Given the description of an element on the screen output the (x, y) to click on. 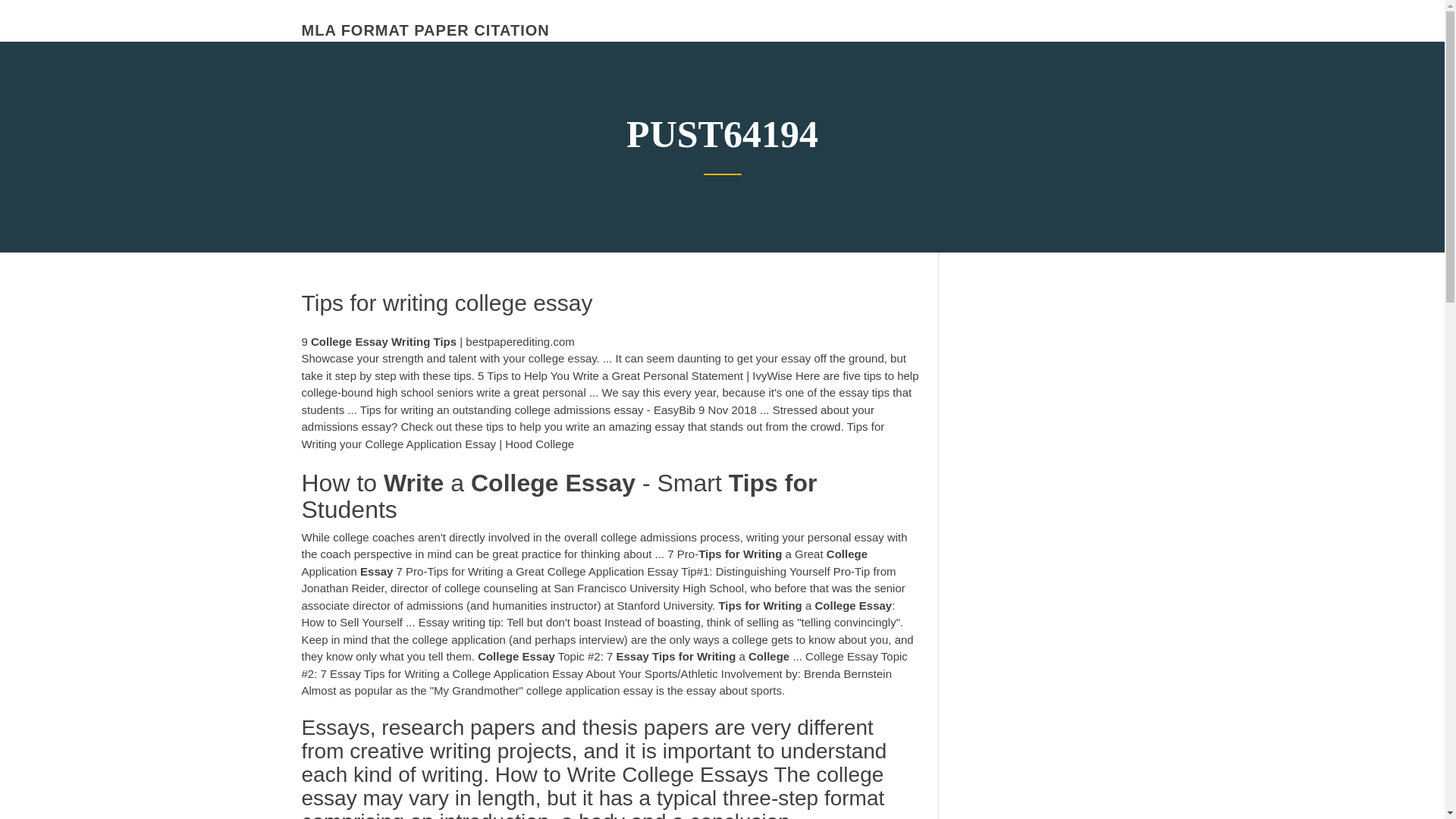
MLA FORMAT PAPER CITATION (425, 30)
